Given the description of an element on the screen output the (x, y) to click on. 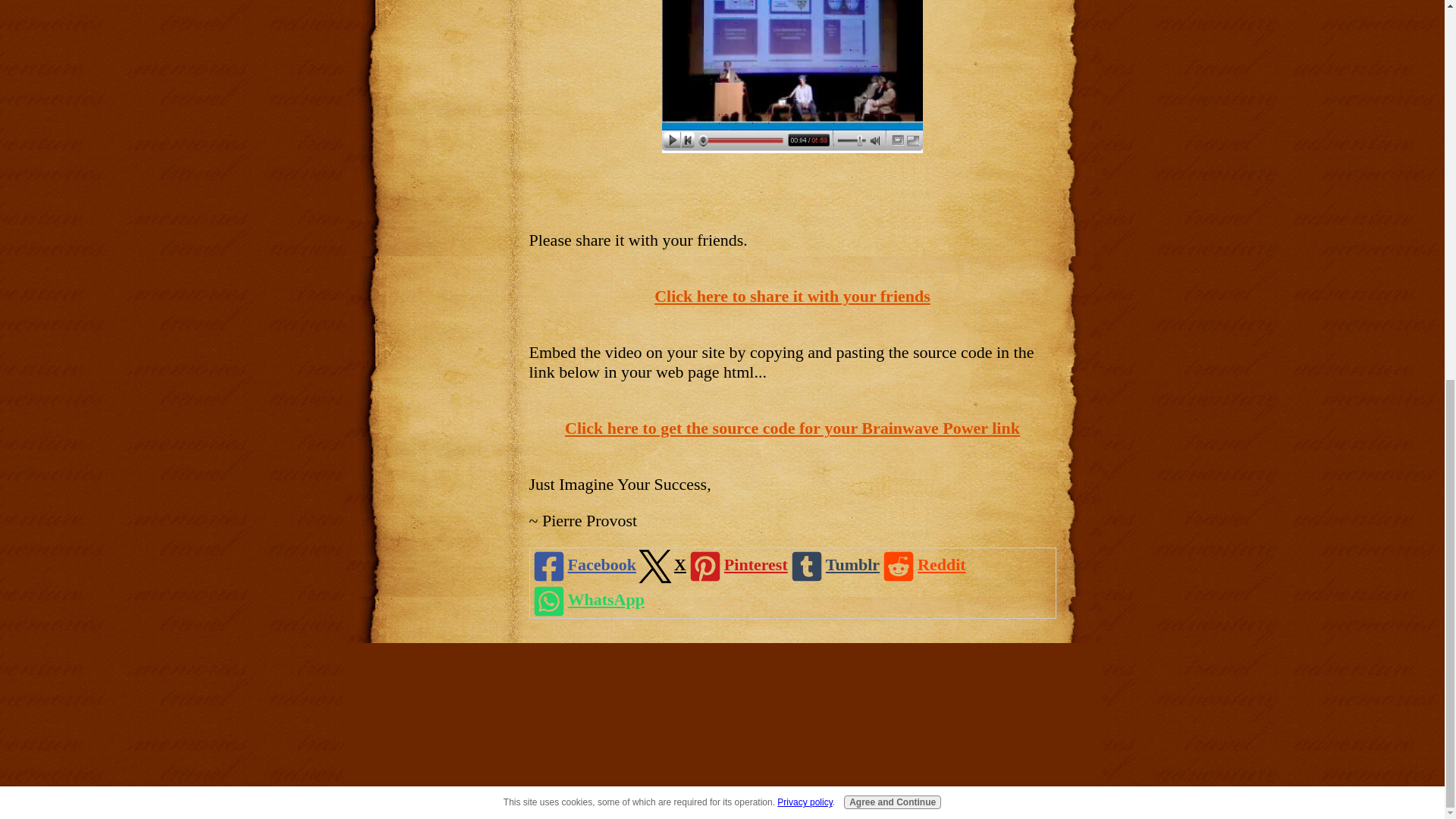
Brainwave Power (791, 295)
Brainwave Power (792, 76)
Privacy policy (804, 97)
Reddit (922, 565)
X (660, 565)
Tumblr (833, 565)
Brainwave Power (792, 427)
Agree and Continue (892, 97)
Click here to share it with your friends (791, 295)
Facebook (581, 565)
Pinterest (736, 565)
WhatsApp (586, 600)
